Given the description of an element on the screen output the (x, y) to click on. 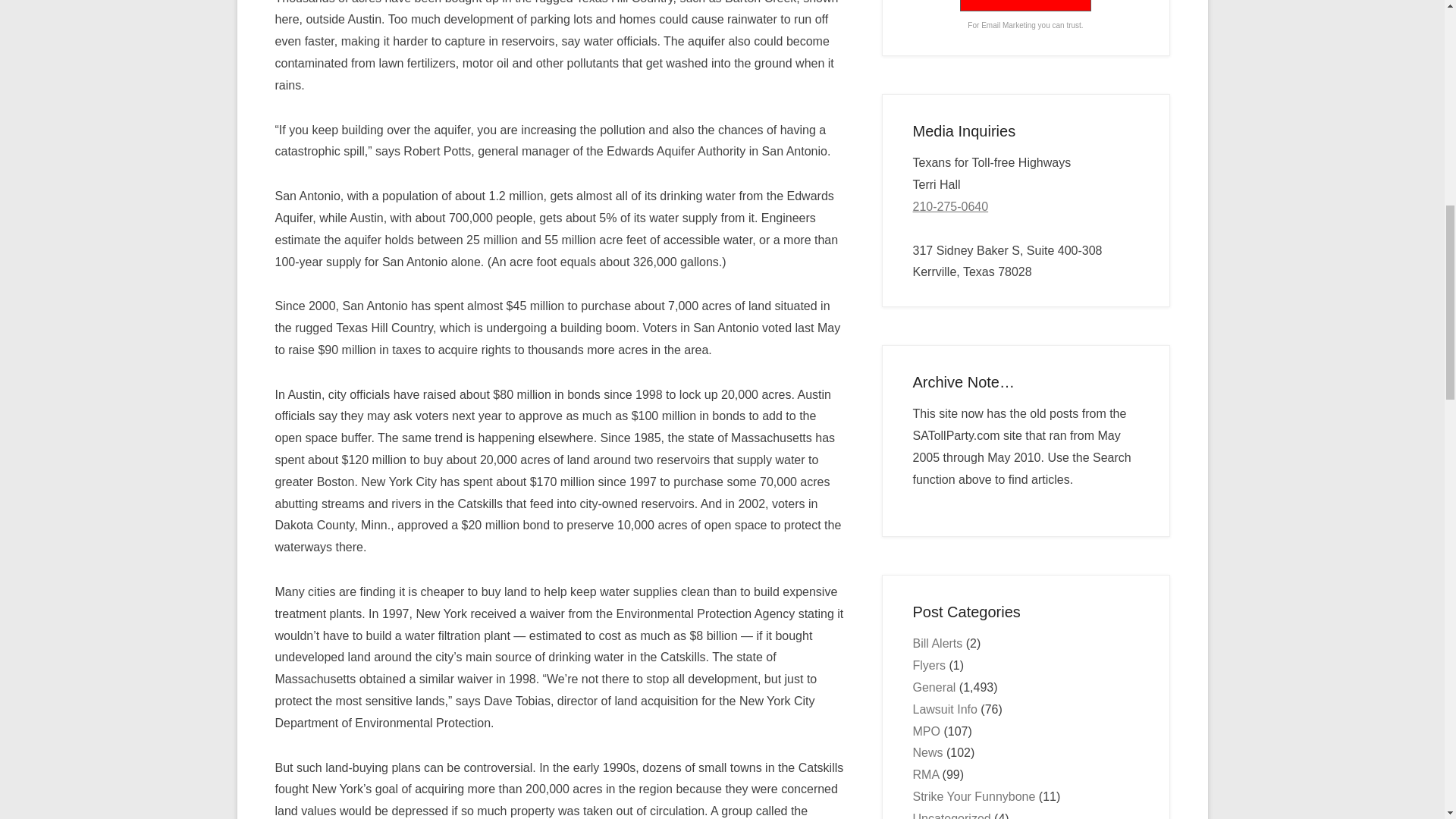
Bill Alerts (937, 643)
Get Regular Updates (1024, 6)
General (934, 686)
MPO (926, 730)
Flyers (929, 665)
News (927, 752)
Strike Your Funnybone (973, 796)
Lawsuit Info (944, 708)
Uncategorized (951, 815)
210-275-0640 (950, 205)
